Given the description of an element on the screen output the (x, y) to click on. 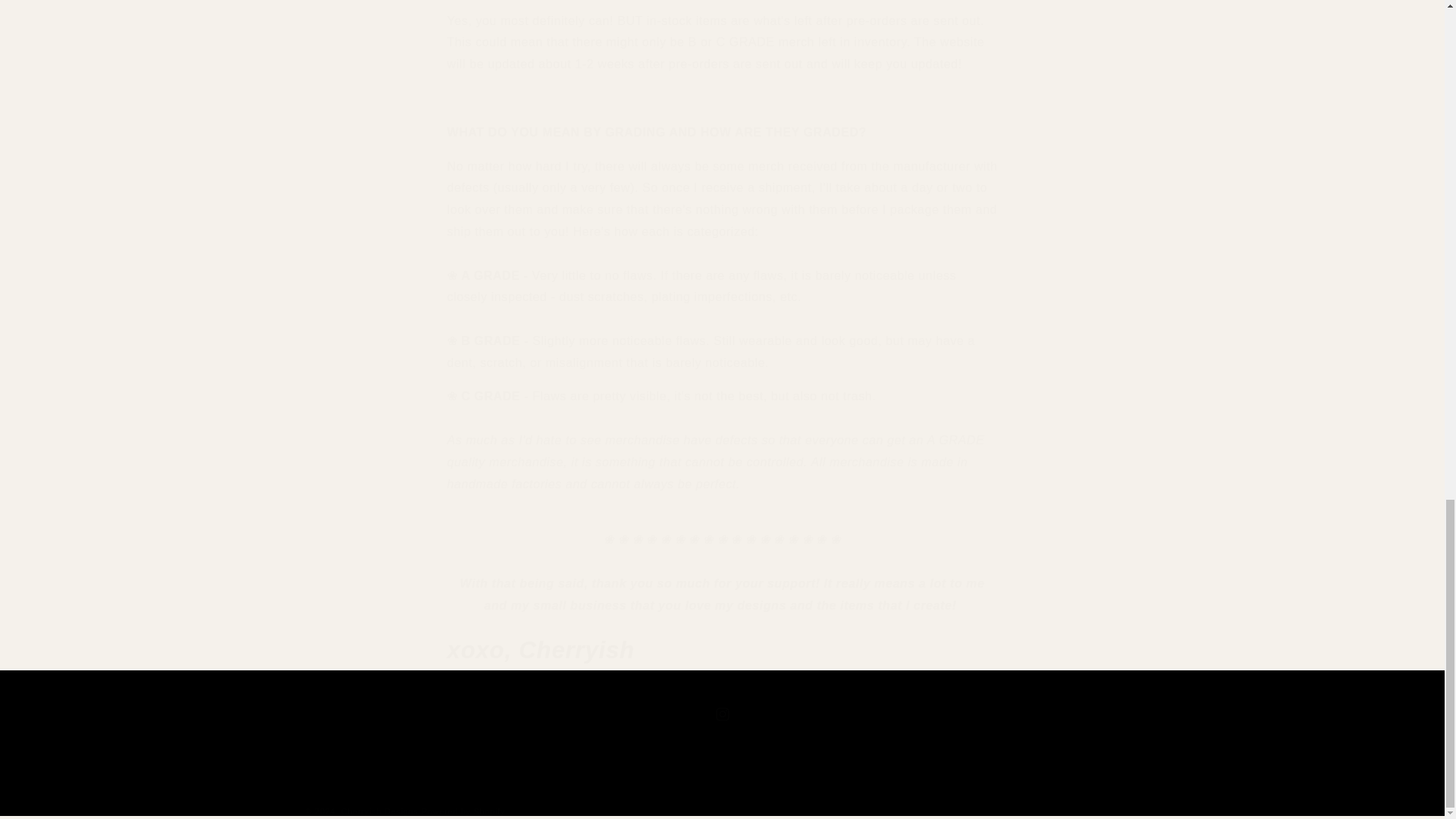
Cherryish Designs (379, 810)
Powered by Shopify (463, 810)
Instagram (721, 714)
Instagram (721, 714)
